Given the description of an element on the screen output the (x, y) to click on. 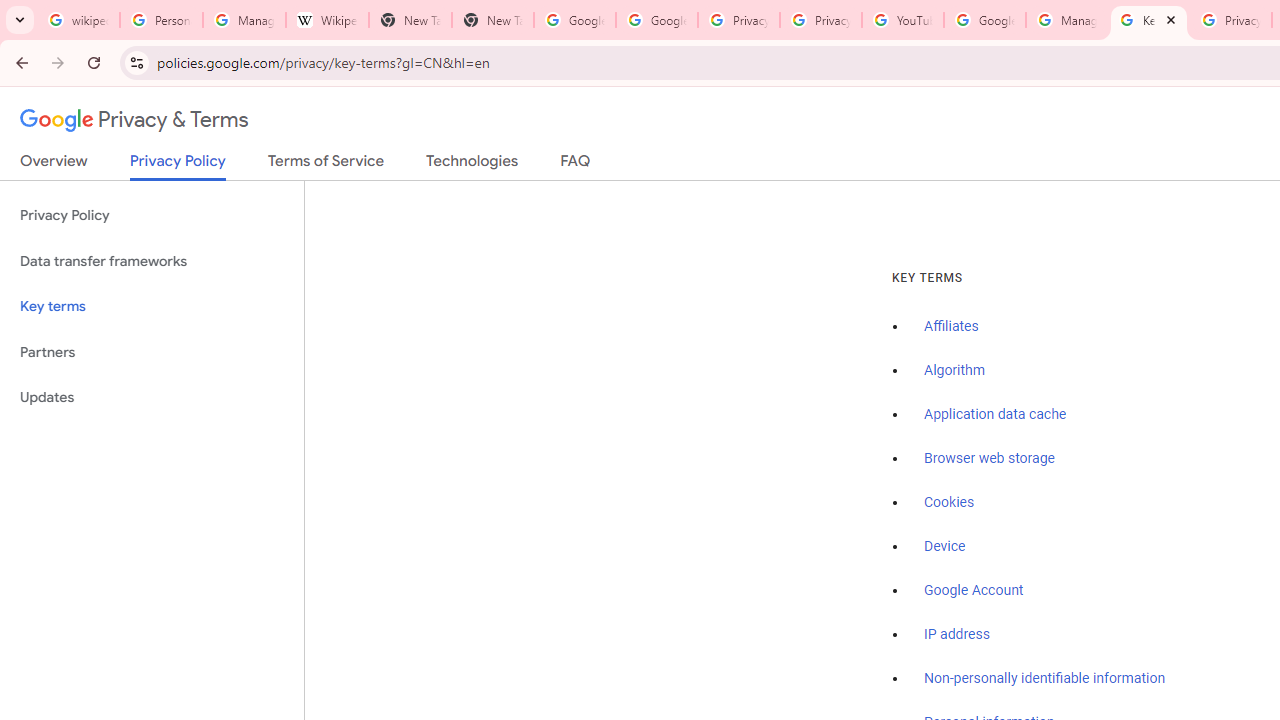
Privacy Policy (152, 215)
Partners (152, 352)
YouTube (902, 20)
Personalization & Google Search results - Google Search Help (161, 20)
Google Account Help (984, 20)
Non-personally identifiable information (1045, 679)
Technologies (472, 165)
IP address (956, 634)
Cookies (949, 502)
Data transfer frameworks (152, 261)
